Given the description of an element on the screen output the (x, y) to click on. 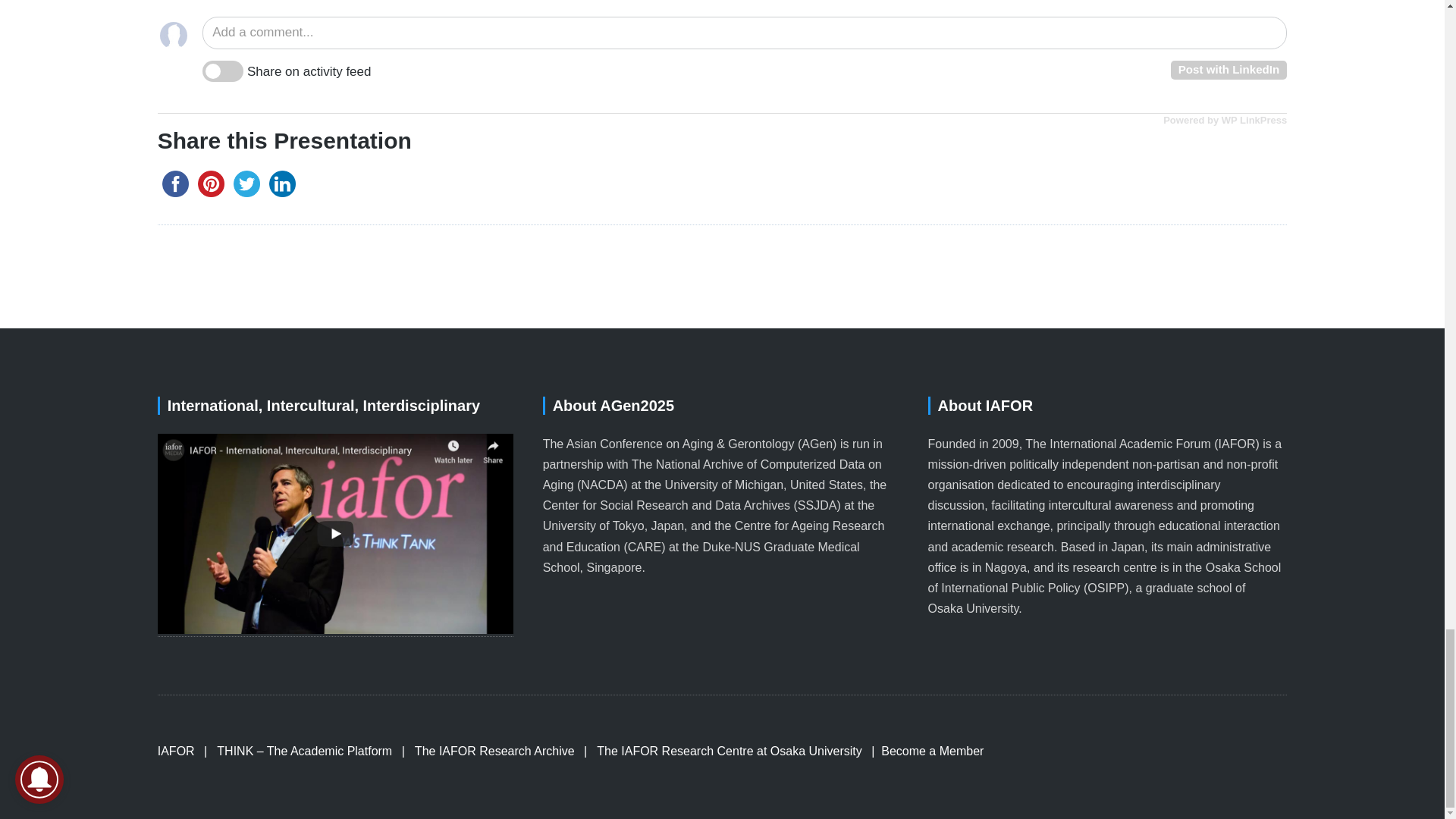
twitter (246, 183)
pinterest (210, 183)
facebook (175, 183)
linkedin (281, 183)
